Given the description of an element on the screen output the (x, y) to click on. 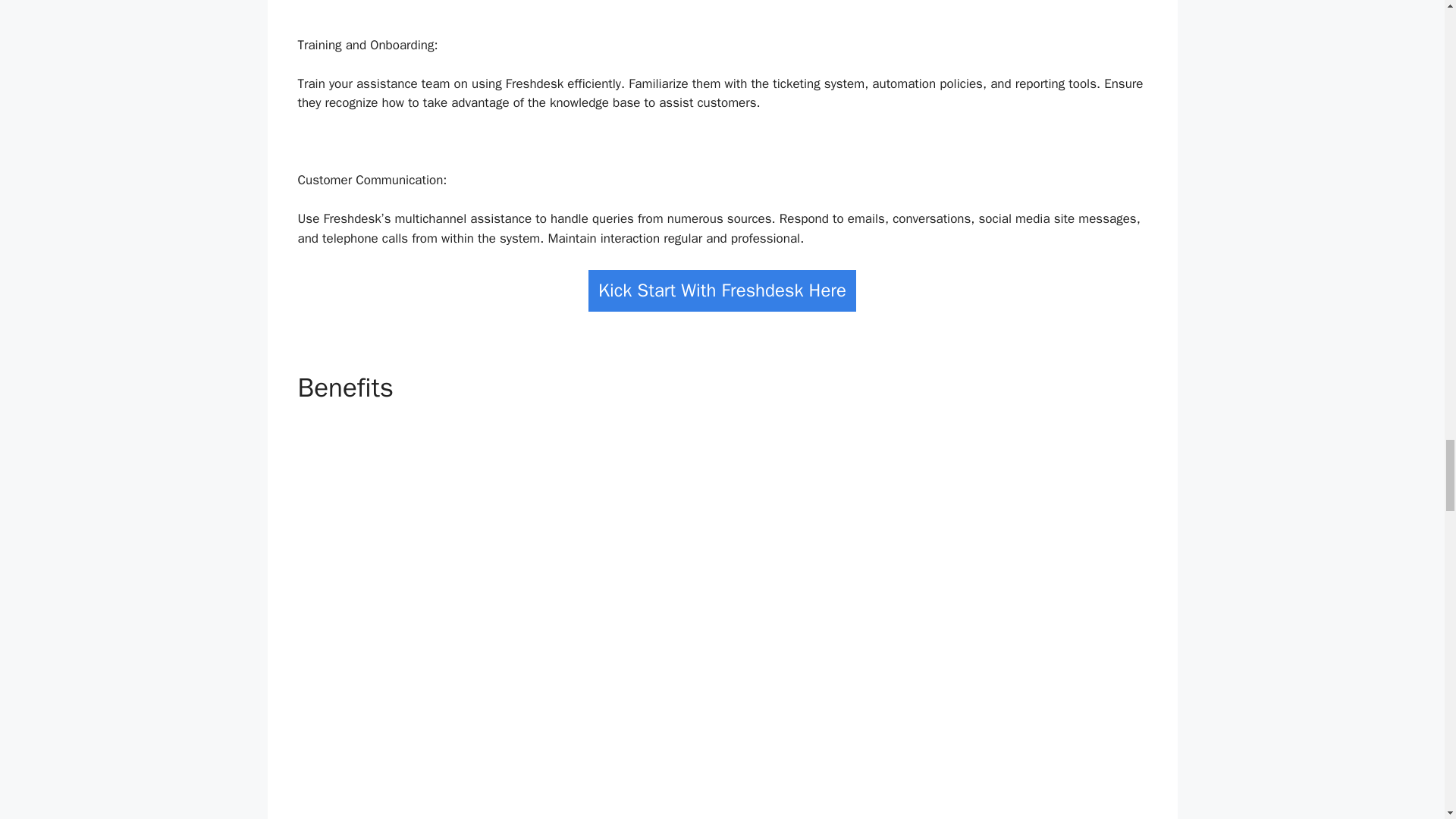
Kick Start With Freshdesk Here (722, 291)
